Given the description of an element on the screen output the (x, y) to click on. 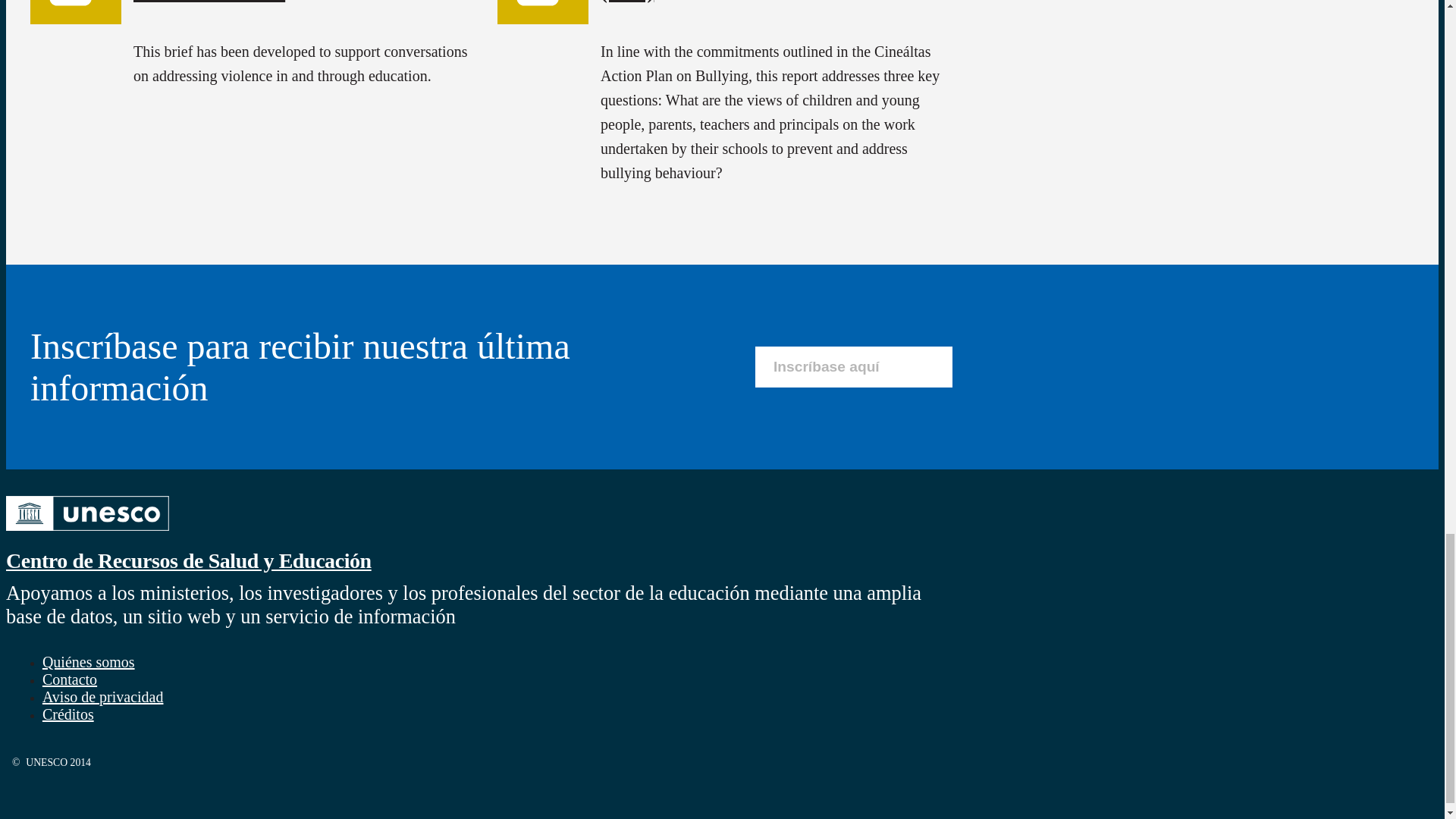
Home (86, 532)
Home (188, 560)
